Given the description of an element on the screen output the (x, y) to click on. 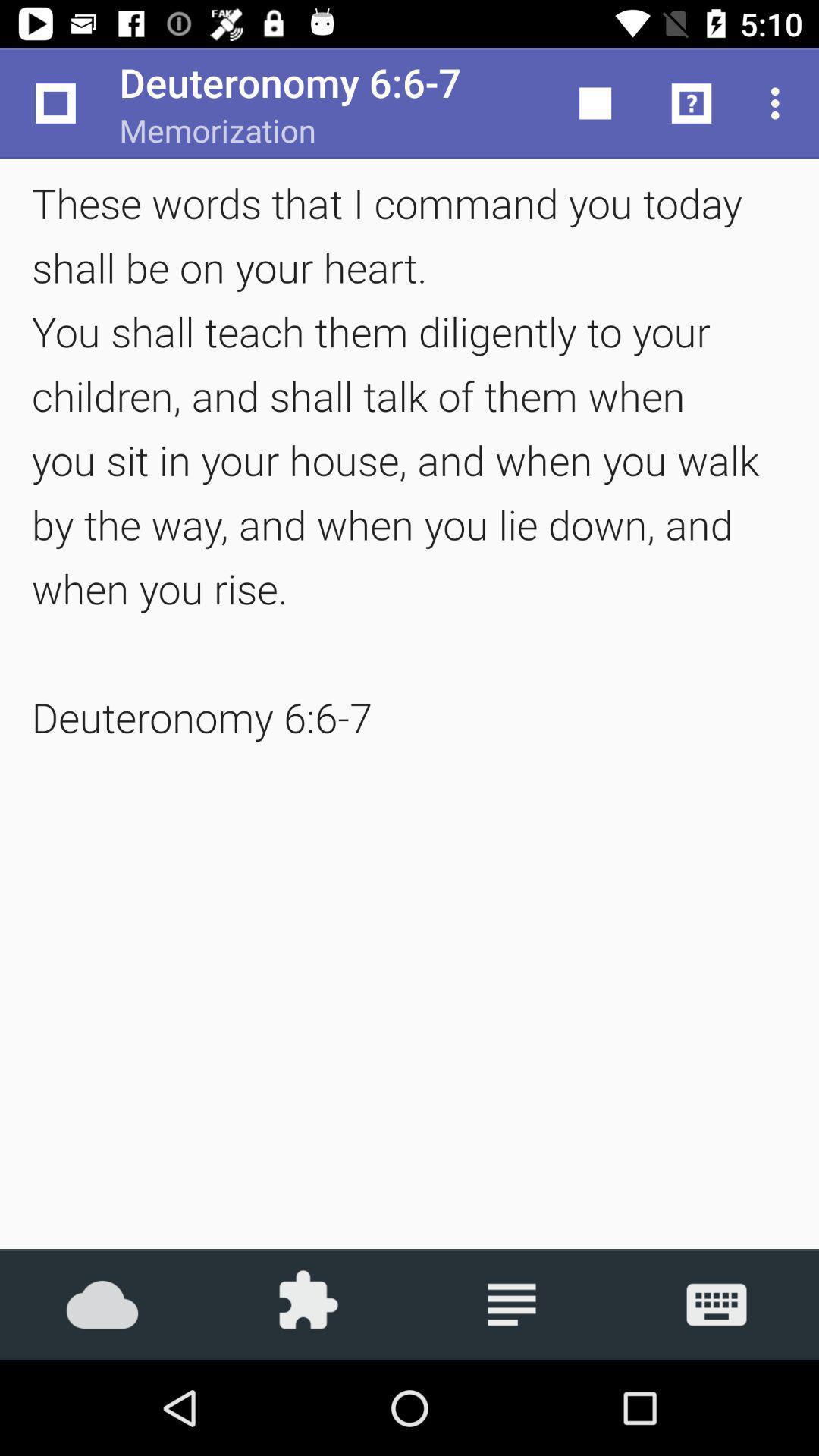
press keyboard button (716, 1304)
